Given the description of an element on the screen output the (x, y) to click on. 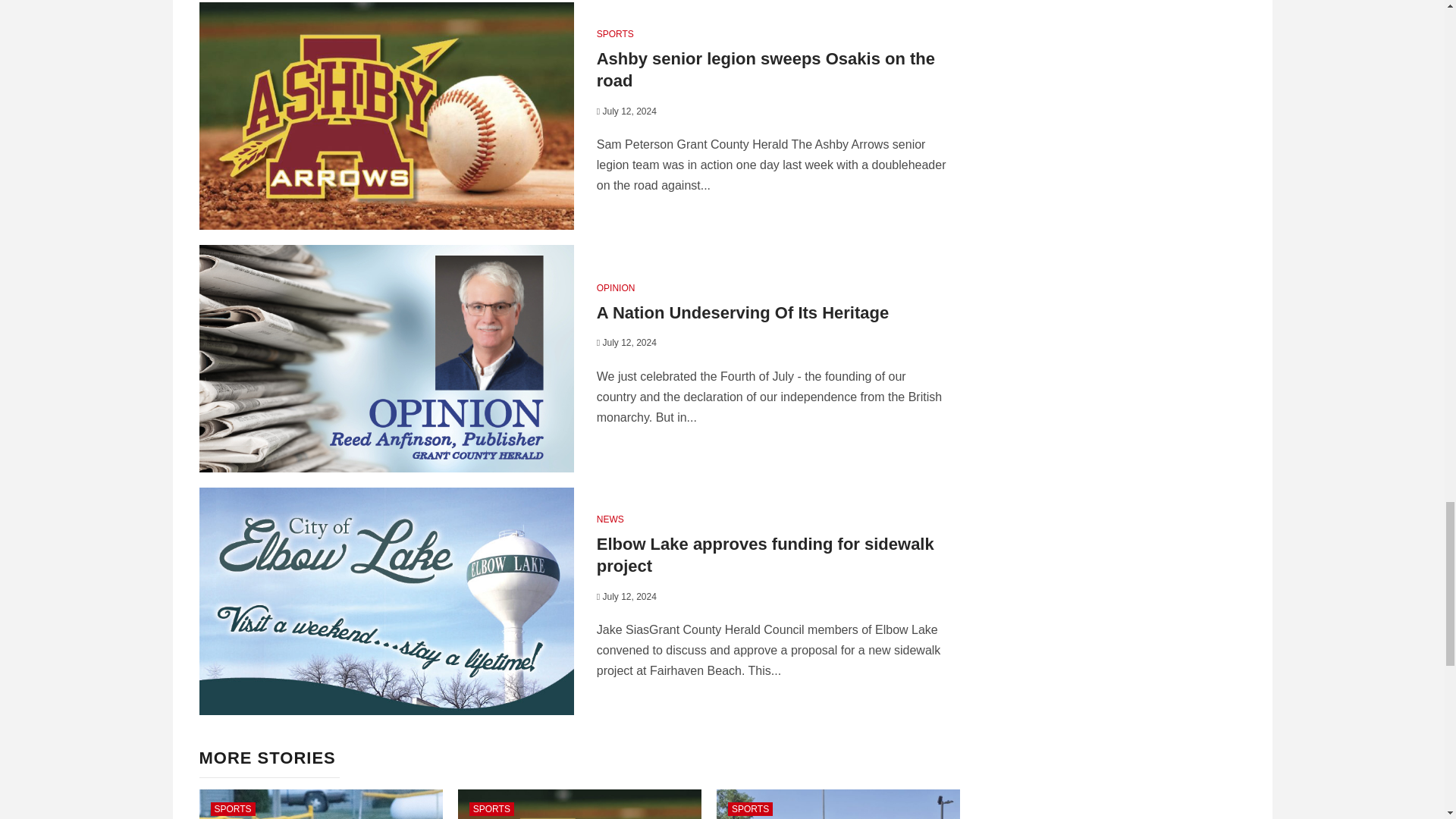
OPINION (615, 287)
Ashby senior legion sweeps Osakis on the road (765, 69)
A Nation Undeserving Of Its Heritage (742, 312)
SPORTS (614, 33)
NEWS (610, 519)
